Given the description of an element on the screen output the (x, y) to click on. 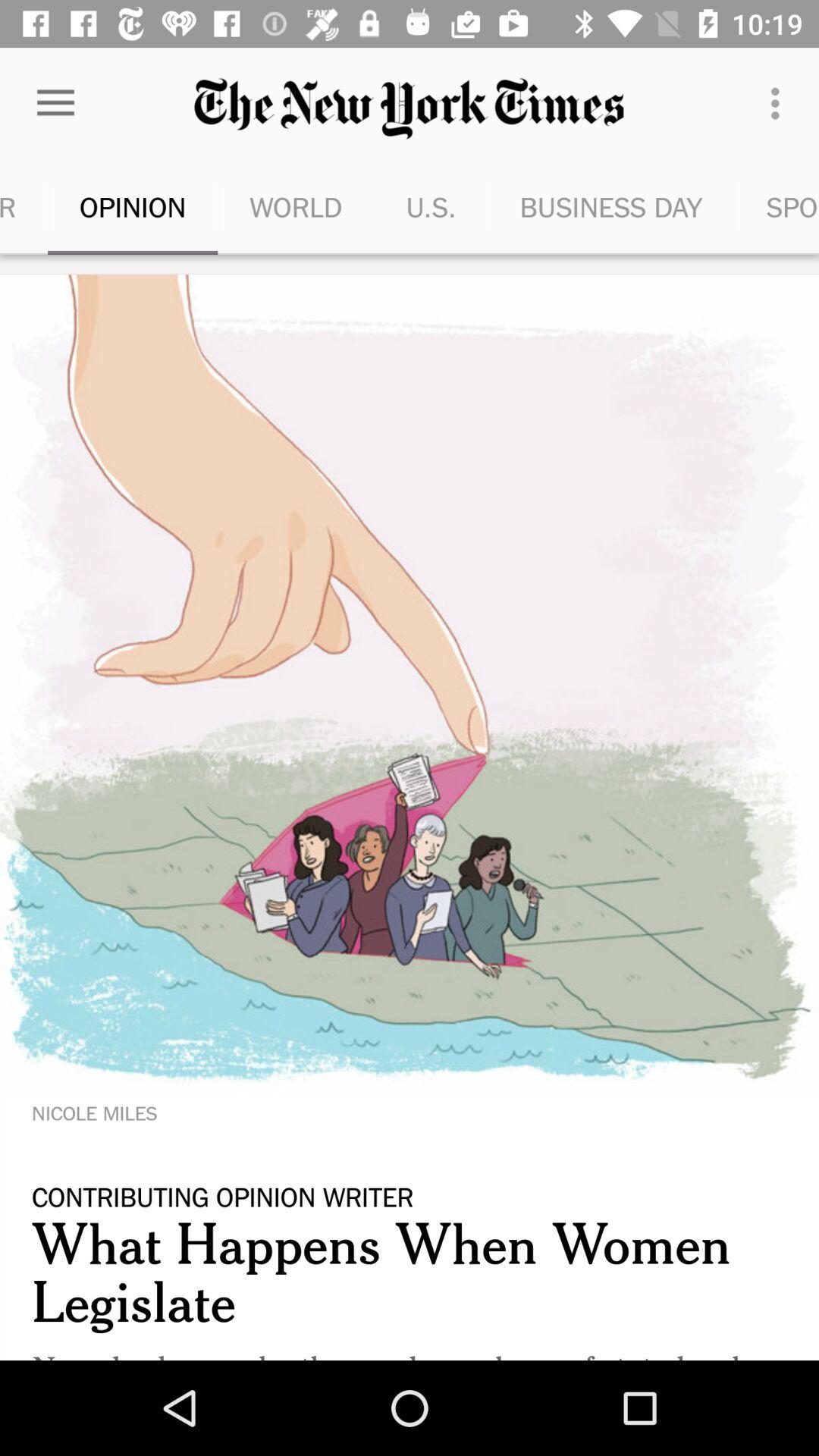
tap the item to the left of u.s. icon (295, 206)
